Given the description of an element on the screen output the (x, y) to click on. 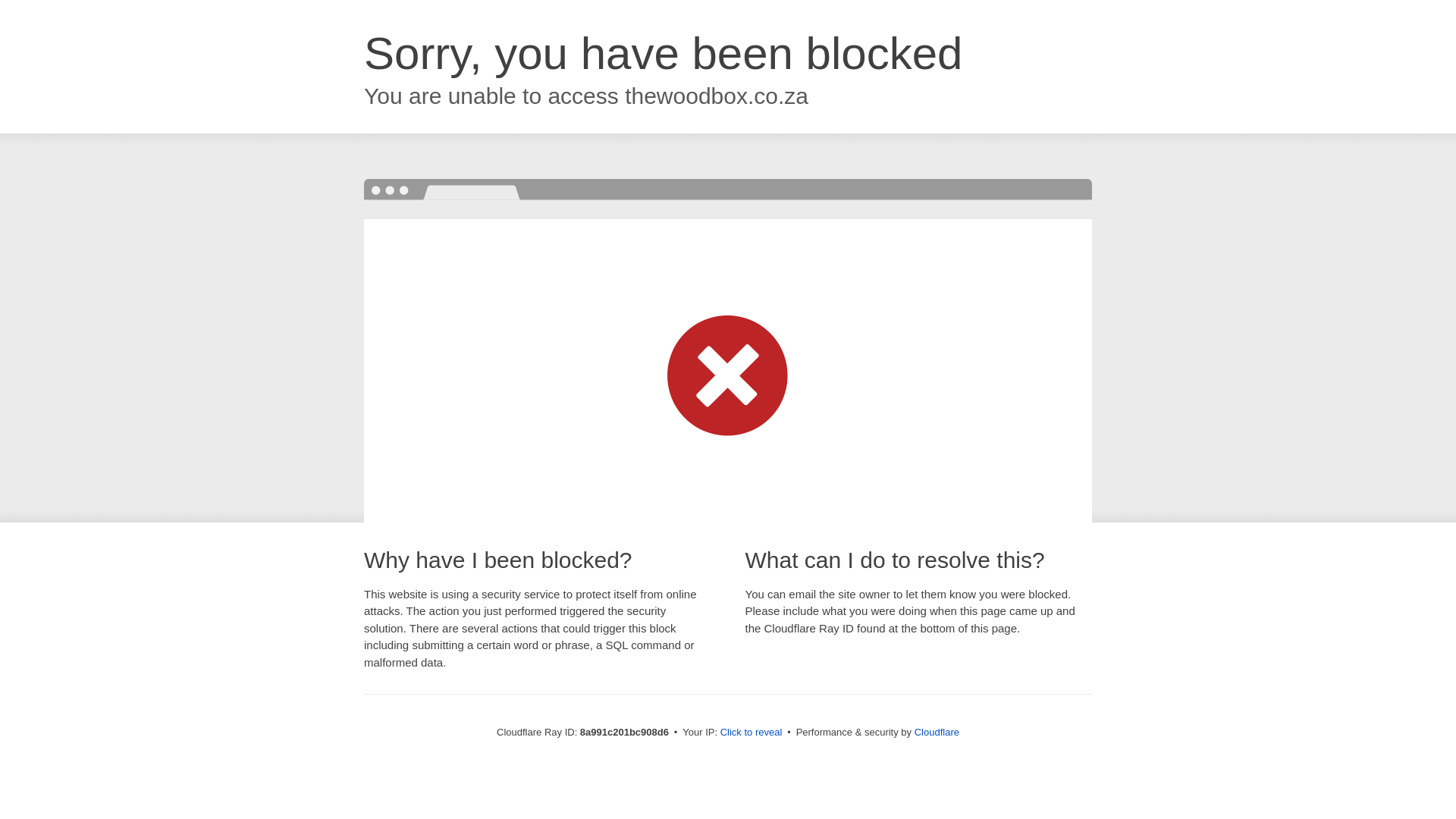
Cloudflare (936, 731)
Click to reveal (751, 732)
